Given the description of an element on the screen output the (x, y) to click on. 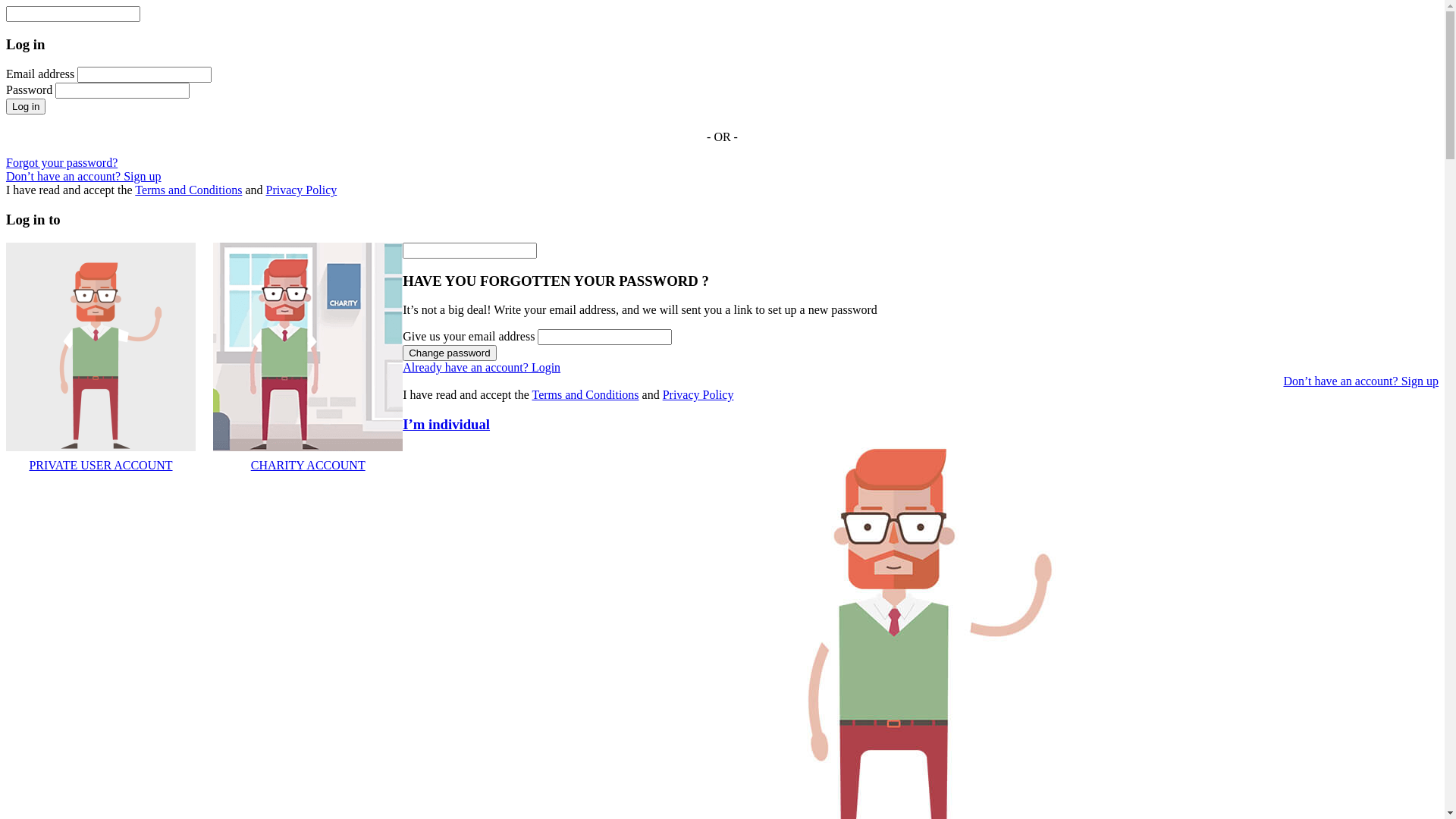
Privacy Policy Element type: text (698, 394)
Change password Element type: text (448, 352)
Terms and Conditions Element type: text (584, 394)
Terms and Conditions Element type: text (187, 189)
Already have an account? Login Element type: text (481, 366)
Privacy Policy Element type: text (300, 189)
CHARITY ACCOUNT Element type: text (307, 458)
Forgot your password? Element type: text (61, 162)
PRIVATE USER ACCOUNT Element type: text (100, 458)
Log in Element type: text (25, 106)
